Given the description of an element on the screen output the (x, y) to click on. 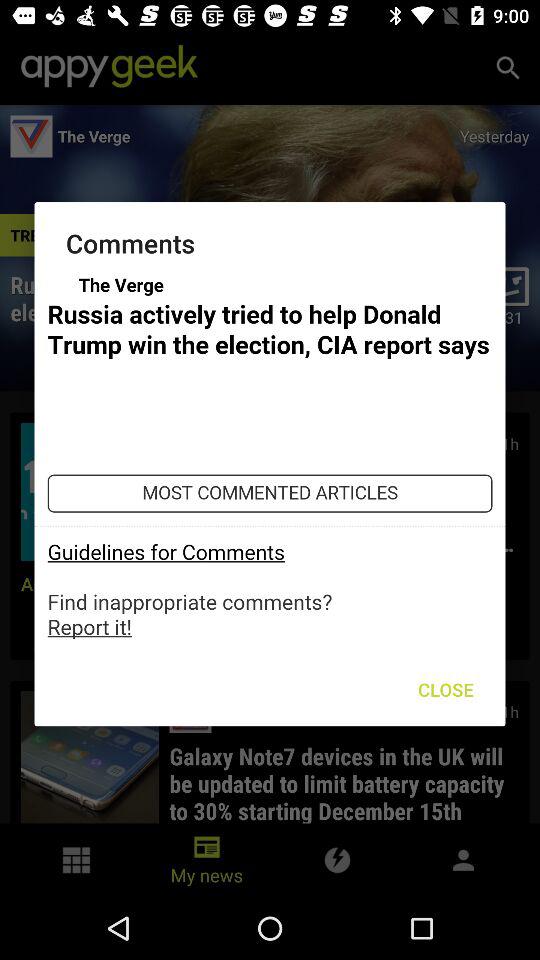
select option (269, 456)
